Given the description of an element on the screen output the (x, y) to click on. 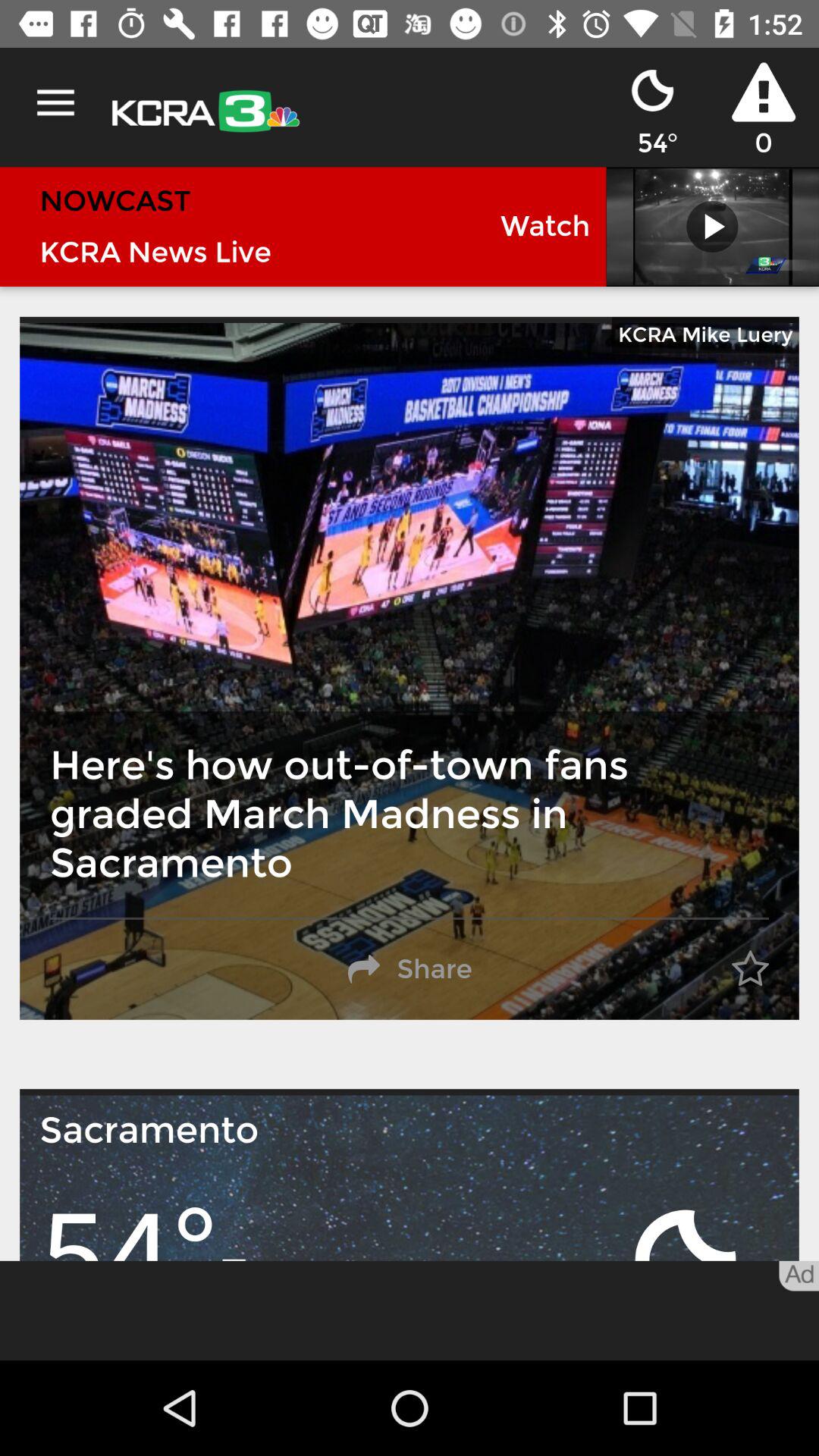
launch icon above nowcast icon (55, 103)
